Given the description of an element on the screen output the (x, y) to click on. 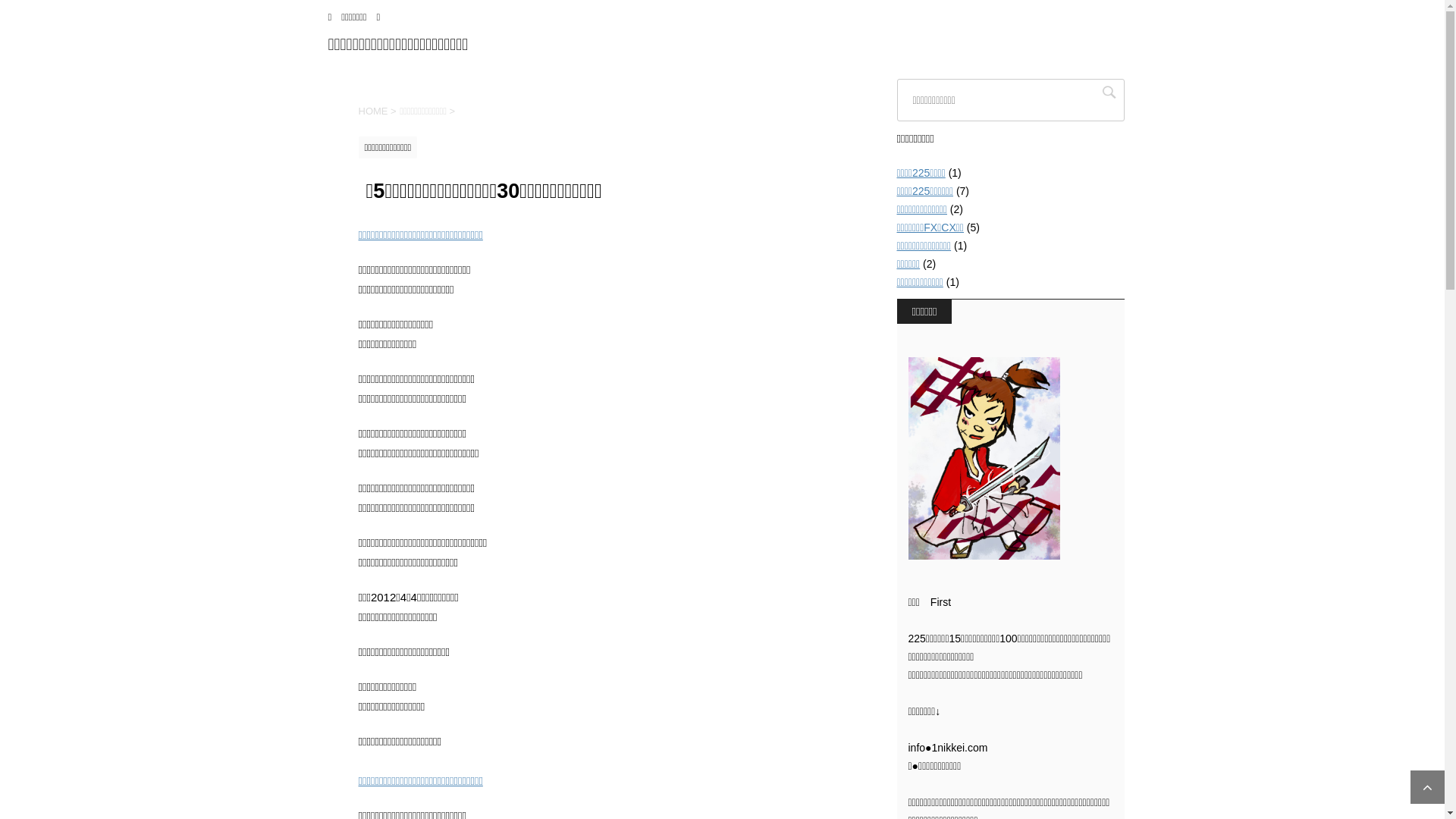
HOME Element type: text (372, 110)
